Given the description of an element on the screen output the (x, y) to click on. 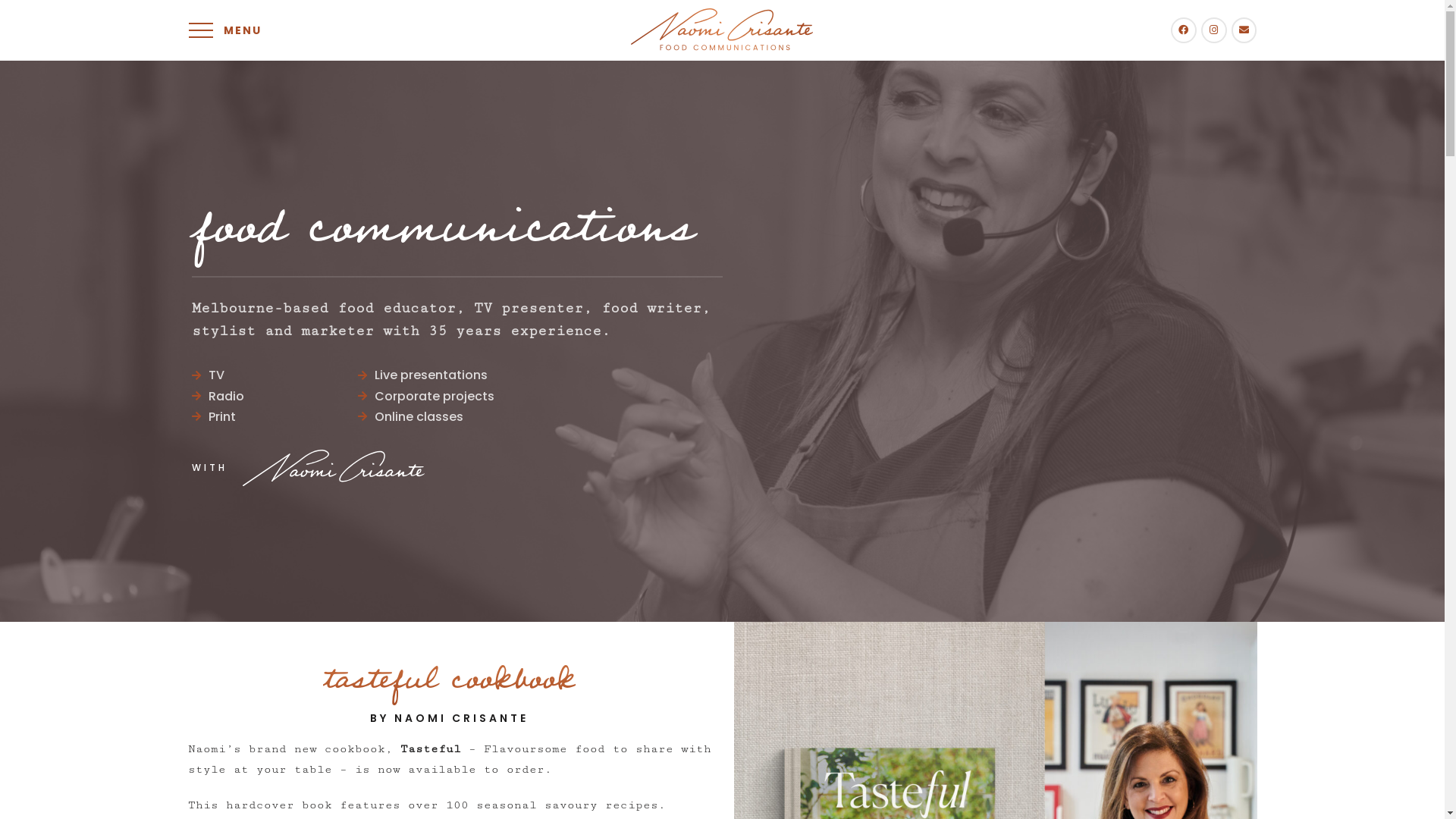
ncsigwhite.svg Element type: hover (333, 467)
